Given the description of an element on the screen output the (x, y) to click on. 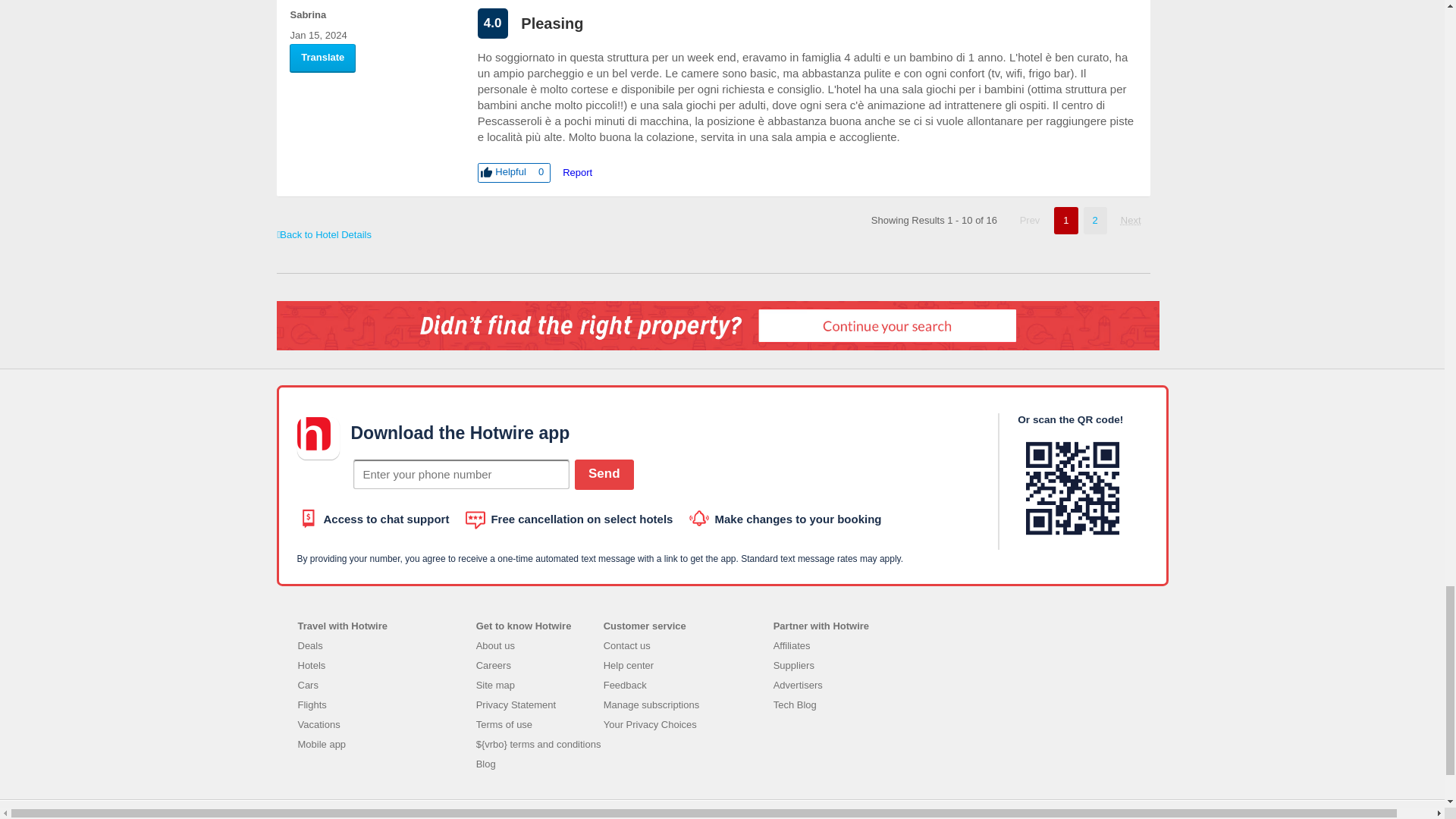
Go to page 2 (1131, 220)
